Given the description of an element on the screen output the (x, y) to click on. 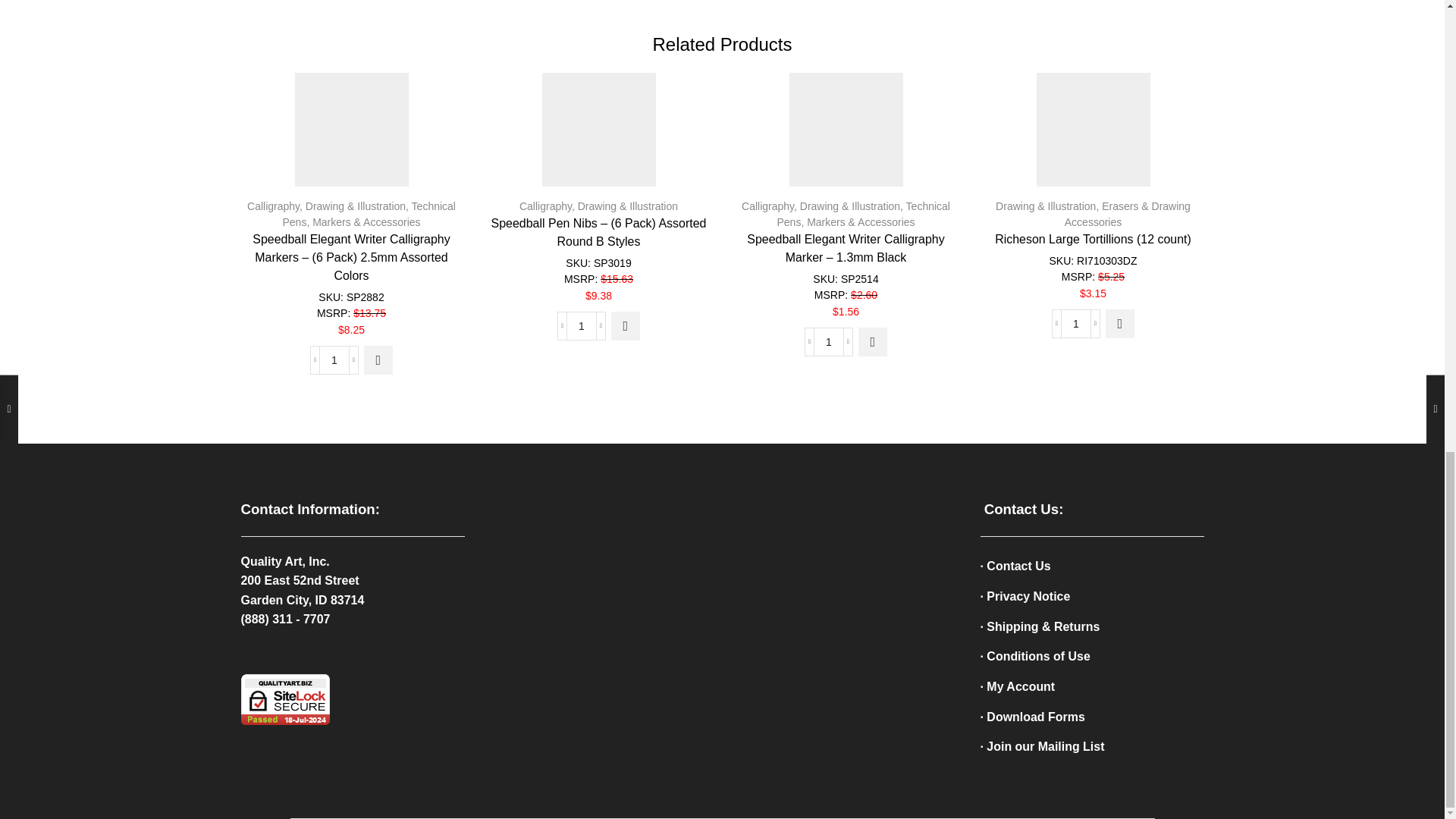
1 (828, 341)
1 (1075, 323)
1 (334, 359)
1 (581, 326)
SiteLock (285, 699)
